Given the description of an element on the screen output the (x, y) to click on. 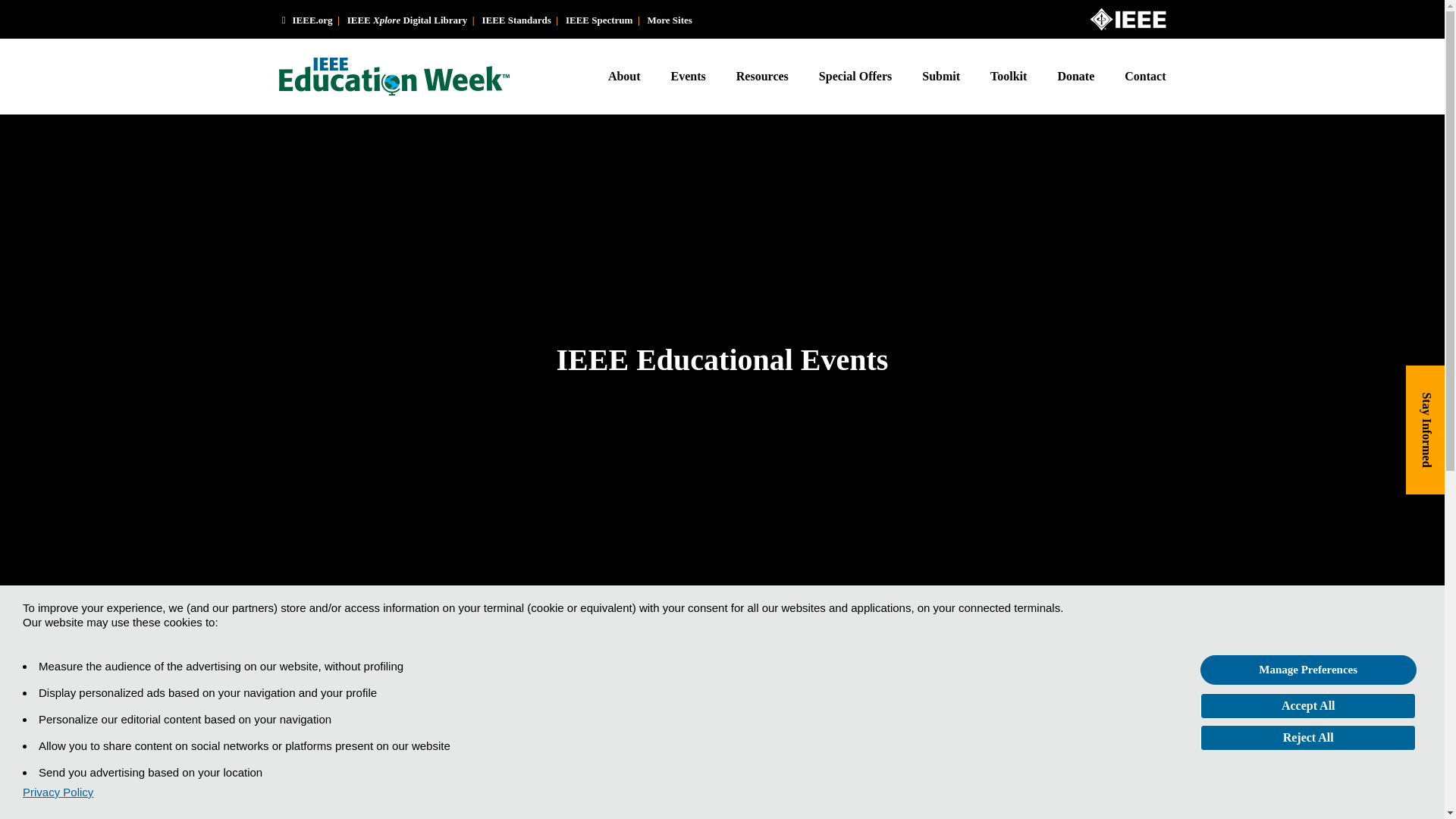
IEEE Xplore Digital Library (407, 19)
IEEE Spectrum (598, 19)
More Sites (670, 19)
IEEE Standards (515, 19)
Submit (941, 76)
Privacy Policy (58, 792)
IEEE.org (306, 19)
About (632, 76)
Ieeeeduweek (359, 709)
Resources (761, 76)
Accept All (1307, 705)
Manage Preferences (1307, 669)
2022 St. Louis Cyber Security Summit (571, 766)
Donate (1075, 76)
Events (688, 76)
